Given the description of an element on the screen output the (x, y) to click on. 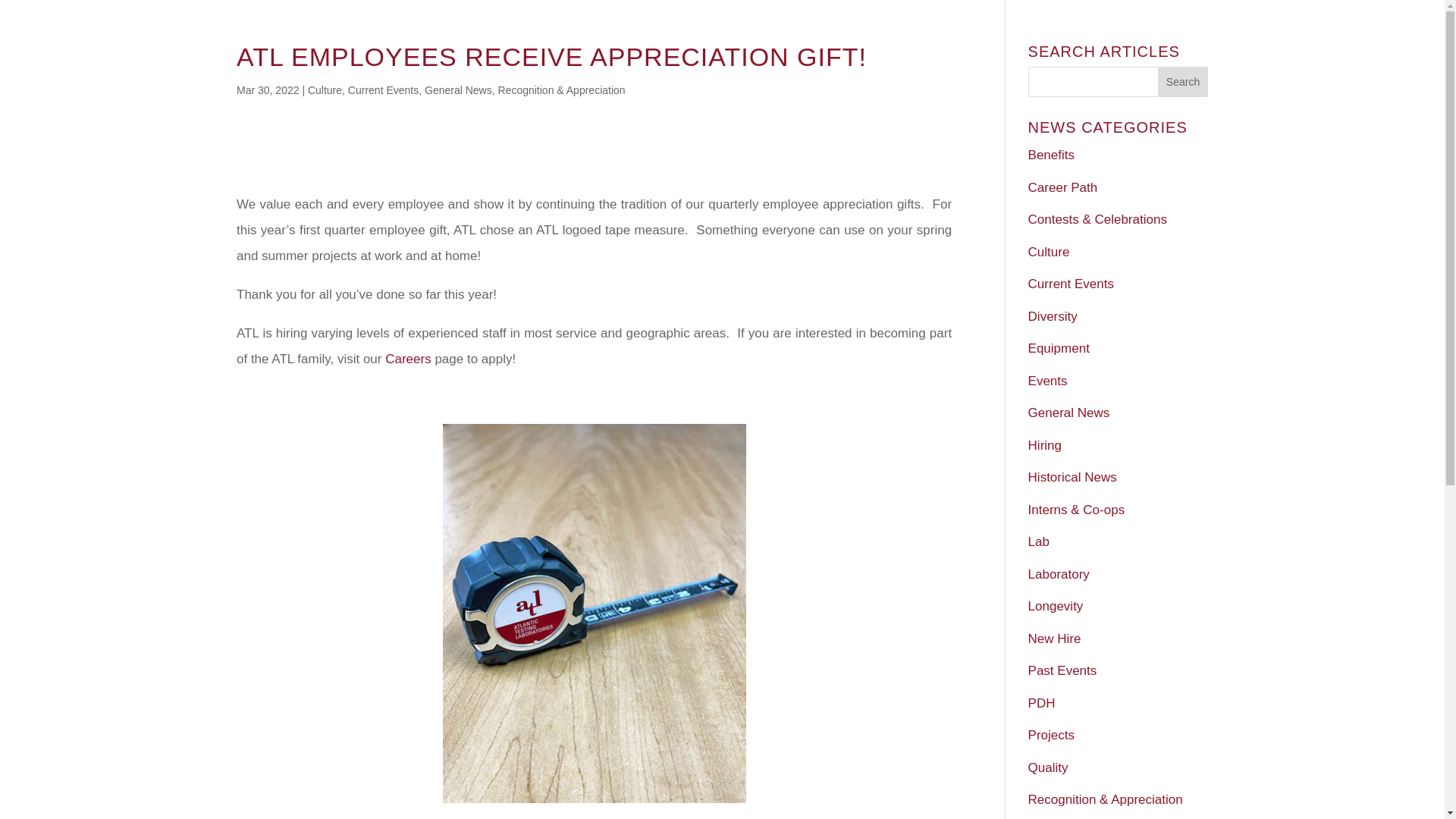
Current Events (1070, 283)
Culture (324, 90)
Search (1182, 81)
Career Path (1062, 187)
Culture (1048, 251)
Careers (407, 359)
Search (1182, 81)
General News (458, 90)
Current Events (383, 90)
Benefits (1050, 155)
